Given the description of an element on the screen output the (x, y) to click on. 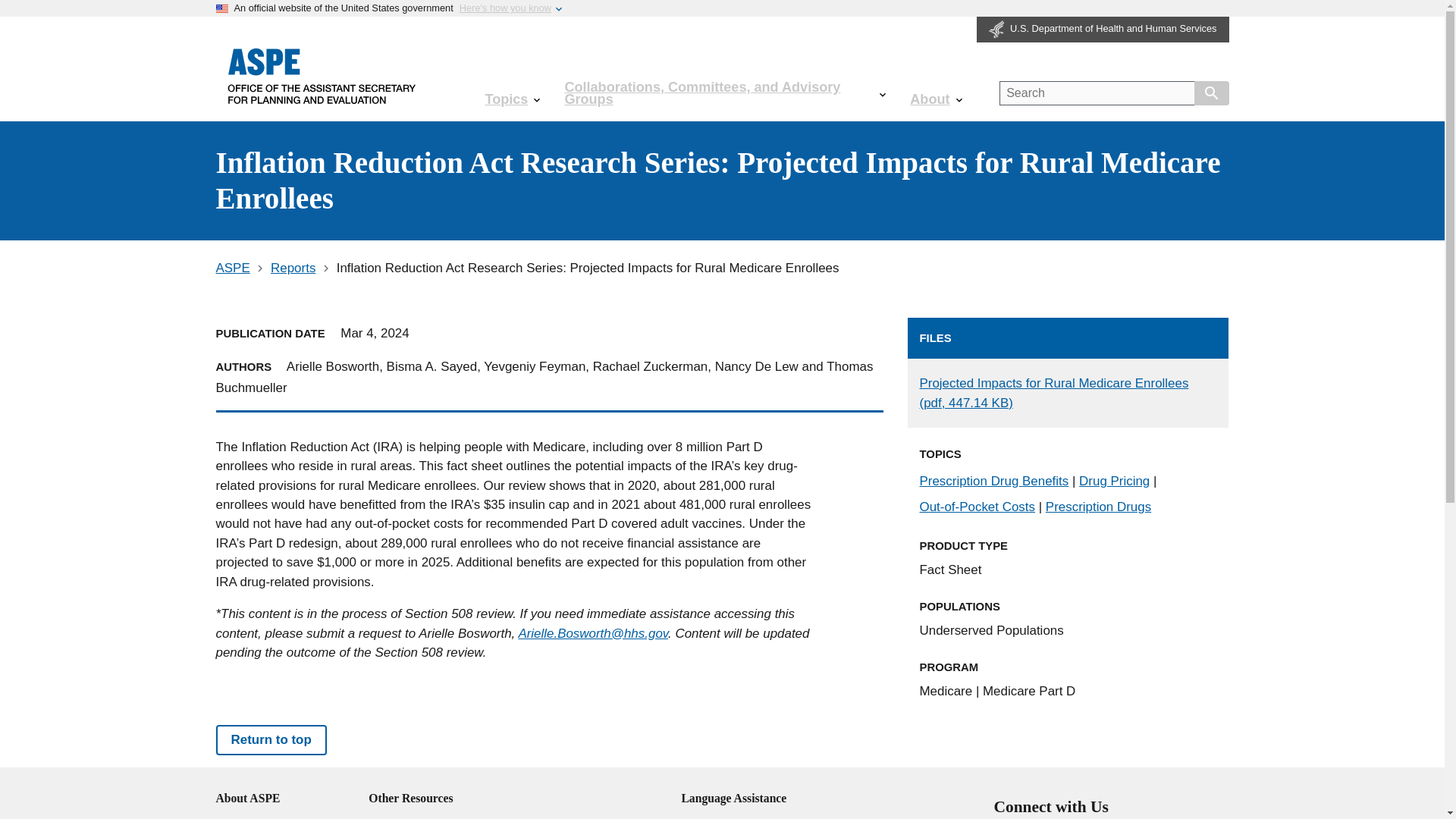
Prescription Drug Benefits (993, 480)
About (936, 99)
Here's how you know (505, 8)
Topics (511, 99)
ASPE (231, 268)
Reports (292, 268)
Collaborations, Committees, and Advisory Groups (724, 92)
Out-of-Pocket Costs (976, 506)
Return to top (270, 739)
Drug Pricing (1114, 480)
U.S. Department of Health and Human Services (1102, 29)
ASPE Home (321, 75)
Monday, March 4, 2024 (374, 332)
Prescription Drugs (1098, 506)
